Given the description of an element on the screen output the (x, y) to click on. 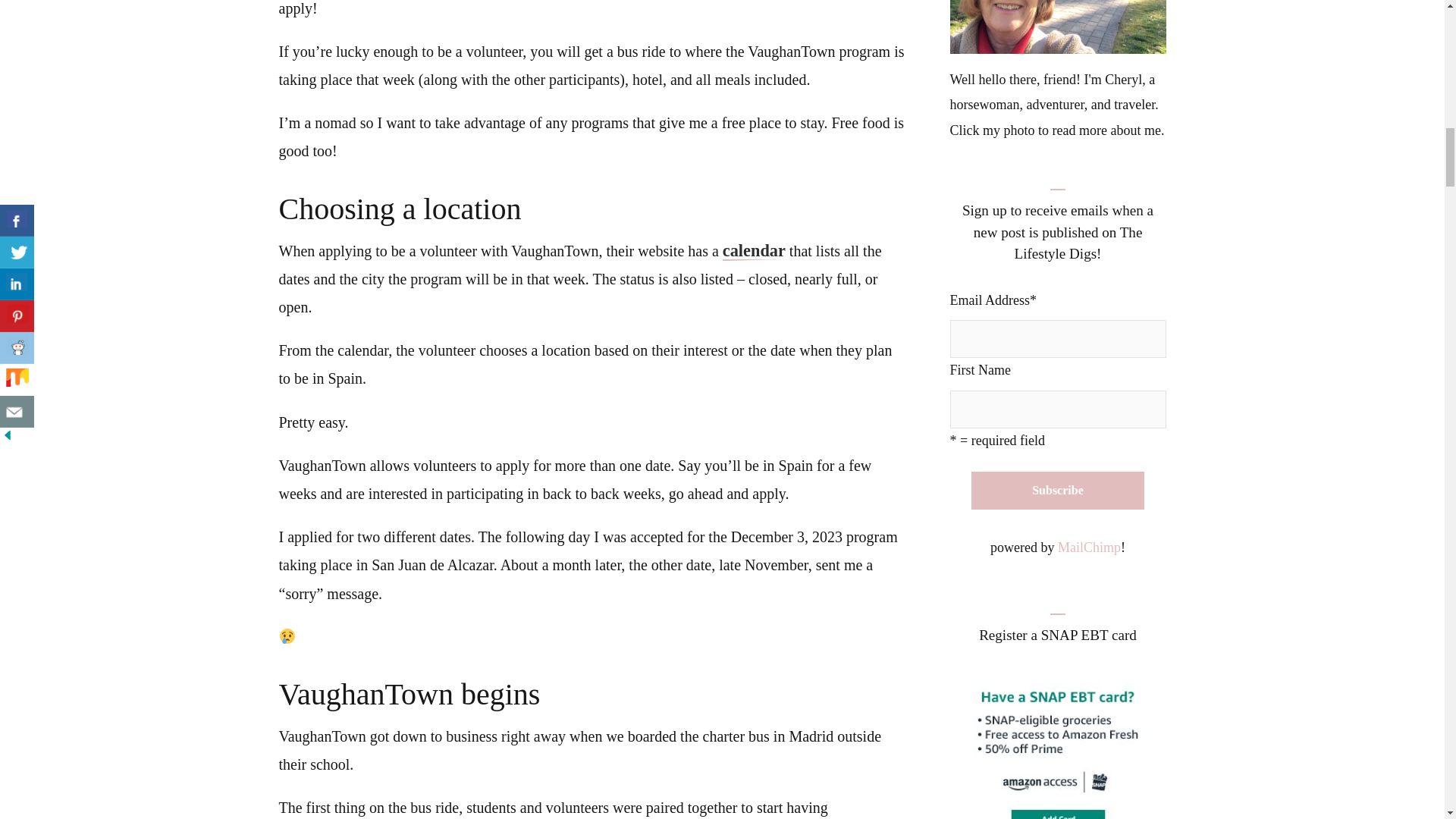
Subscribe (1057, 490)
calendar (754, 251)
